Given the description of an element on the screen output the (x, y) to click on. 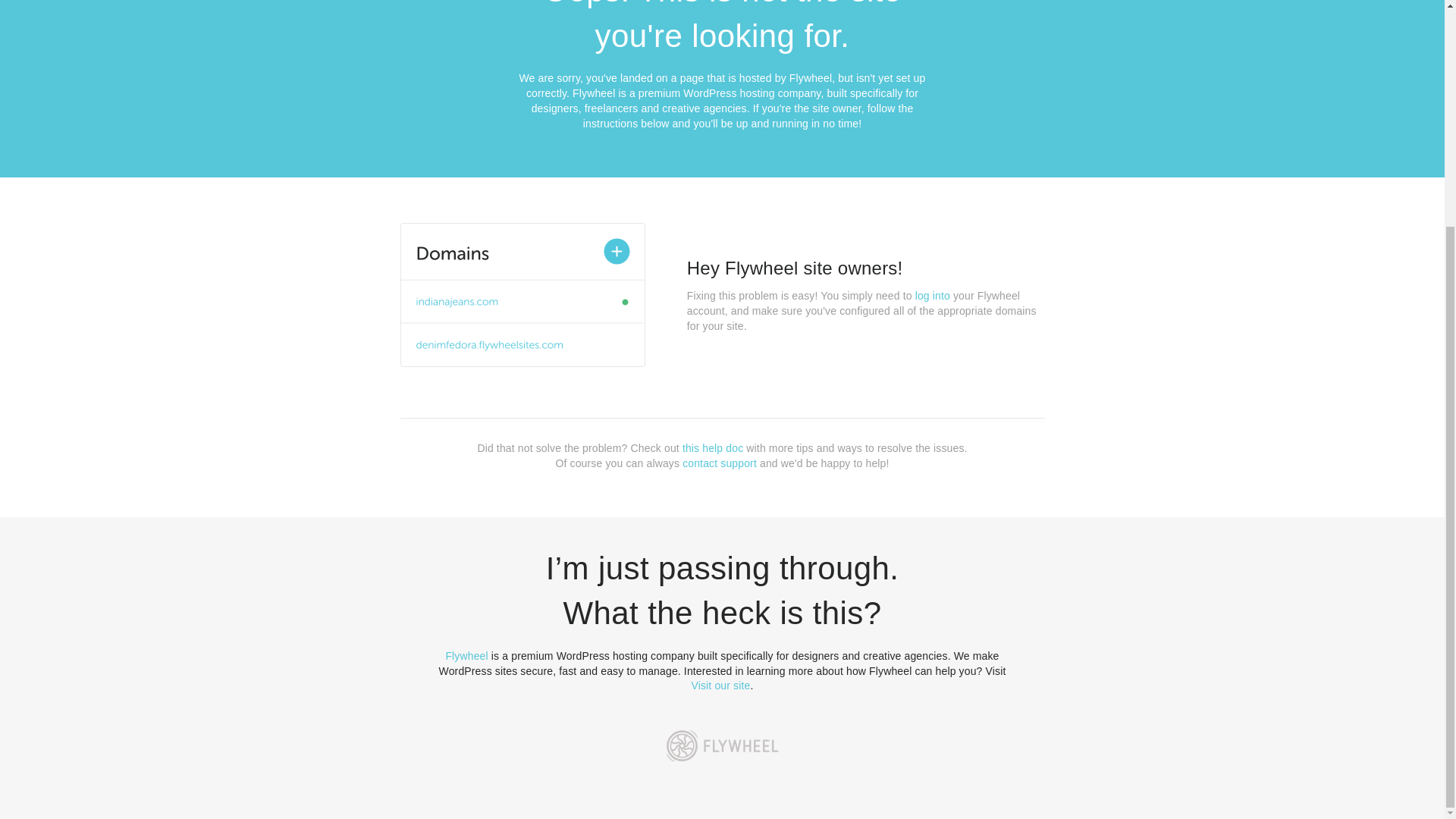
contact support (719, 463)
this help doc (712, 448)
log into (932, 295)
Flywheel (466, 655)
Visit our site (721, 685)
